Given the description of an element on the screen output the (x, y) to click on. 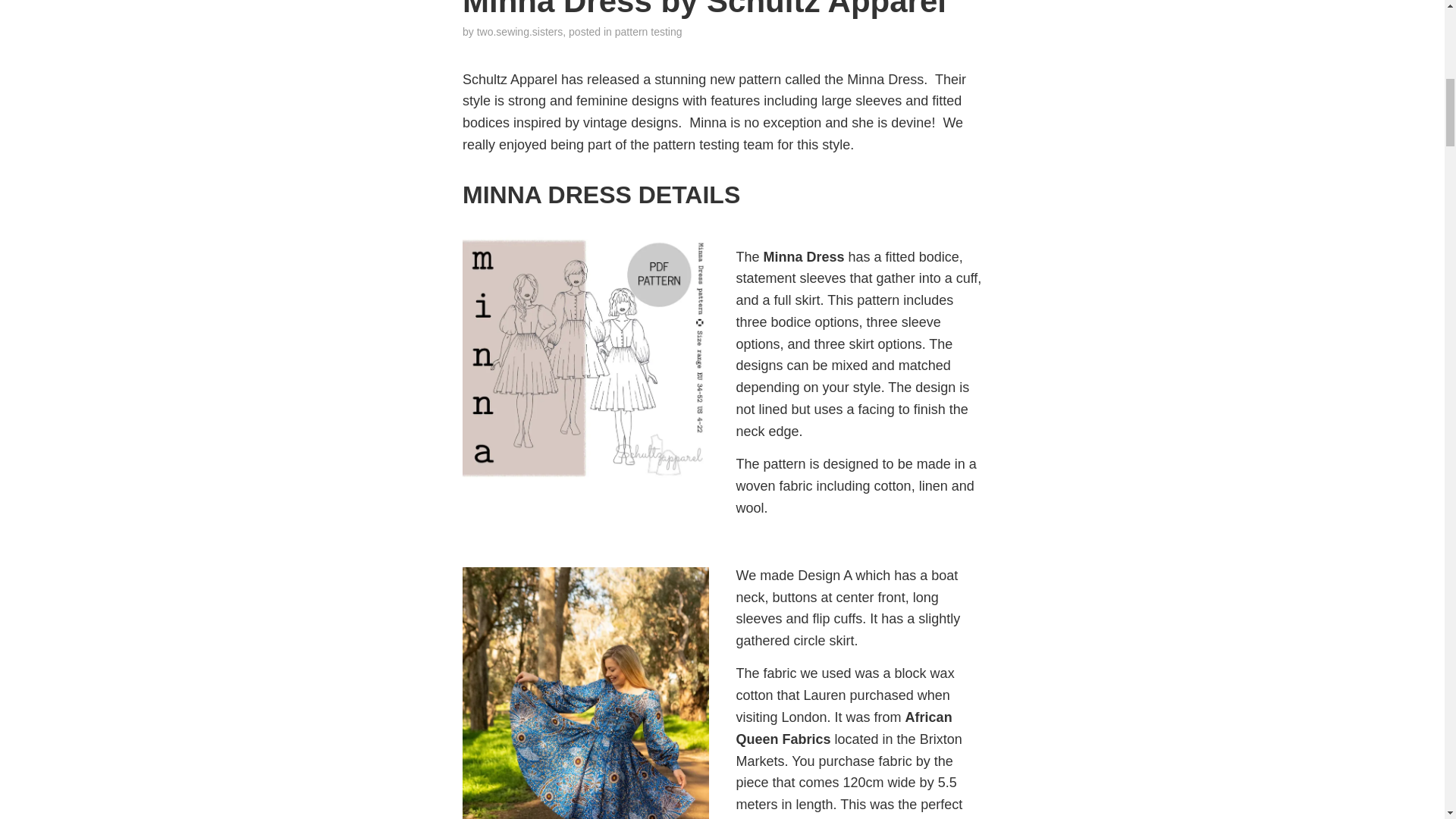
Minna Dress (803, 255)
African Queen Fabrics (843, 728)
two.sewing.sisters (520, 31)
pattern testing (648, 31)
Minna Dress by Schultz Apparel (704, 9)
